Given the description of an element on the screen output the (x, y) to click on. 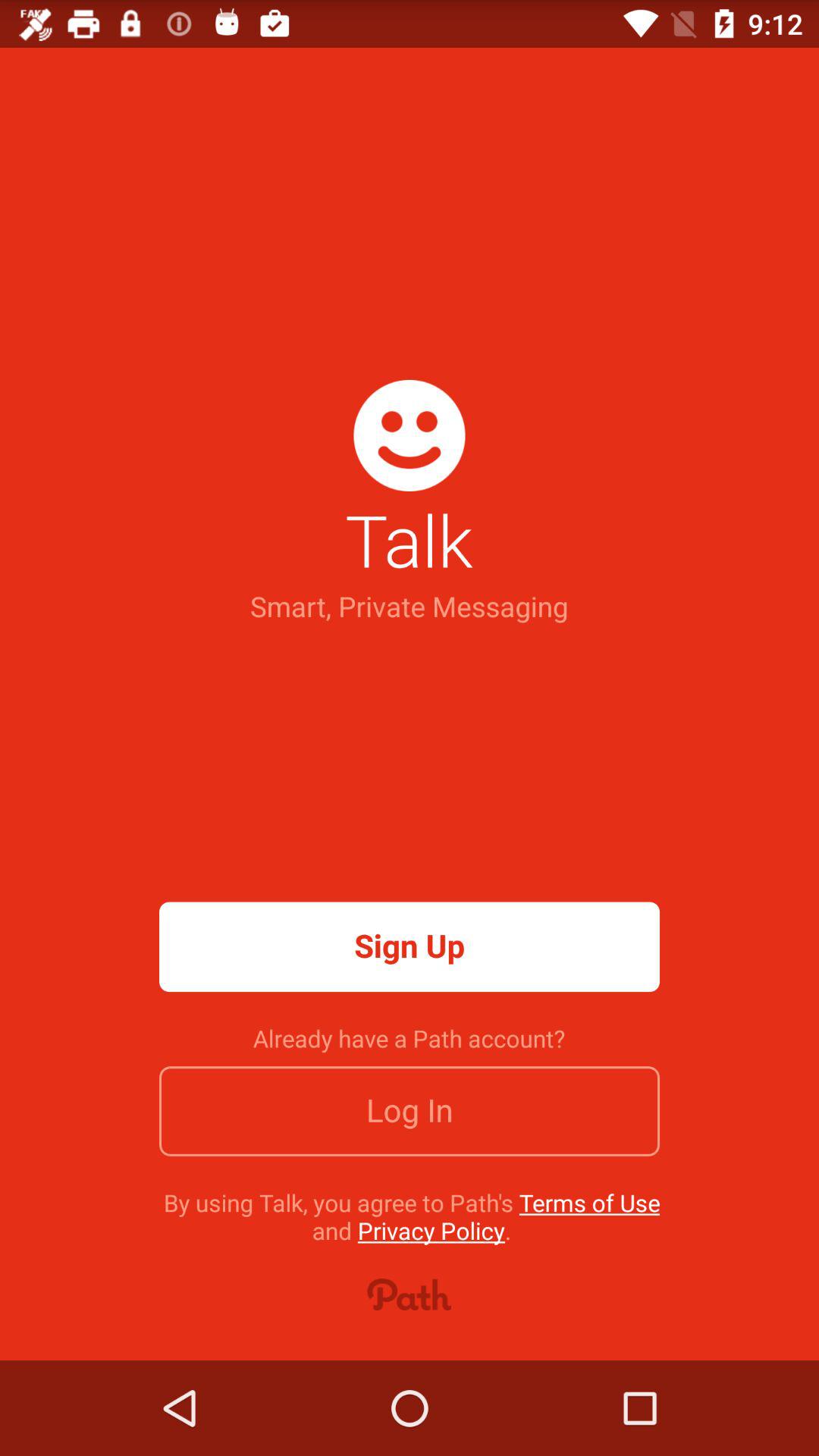
open icon above the already have a icon (409, 946)
